Given the description of an element on the screen output the (x, y) to click on. 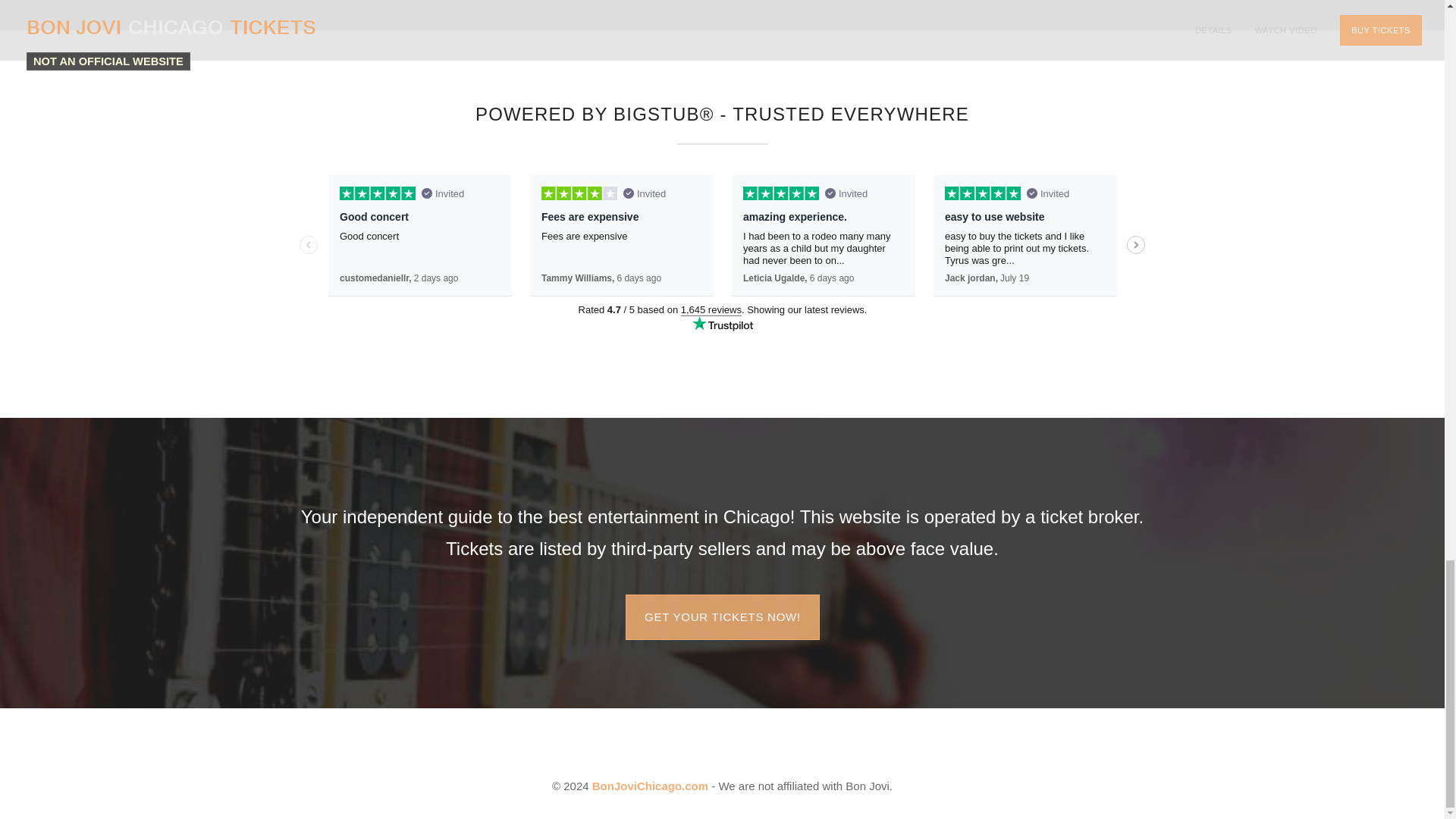
BonJoviChicago.com (649, 785)
GET YOUR TICKETS NOW! (722, 616)
